Given the description of an element on the screen output the (x, y) to click on. 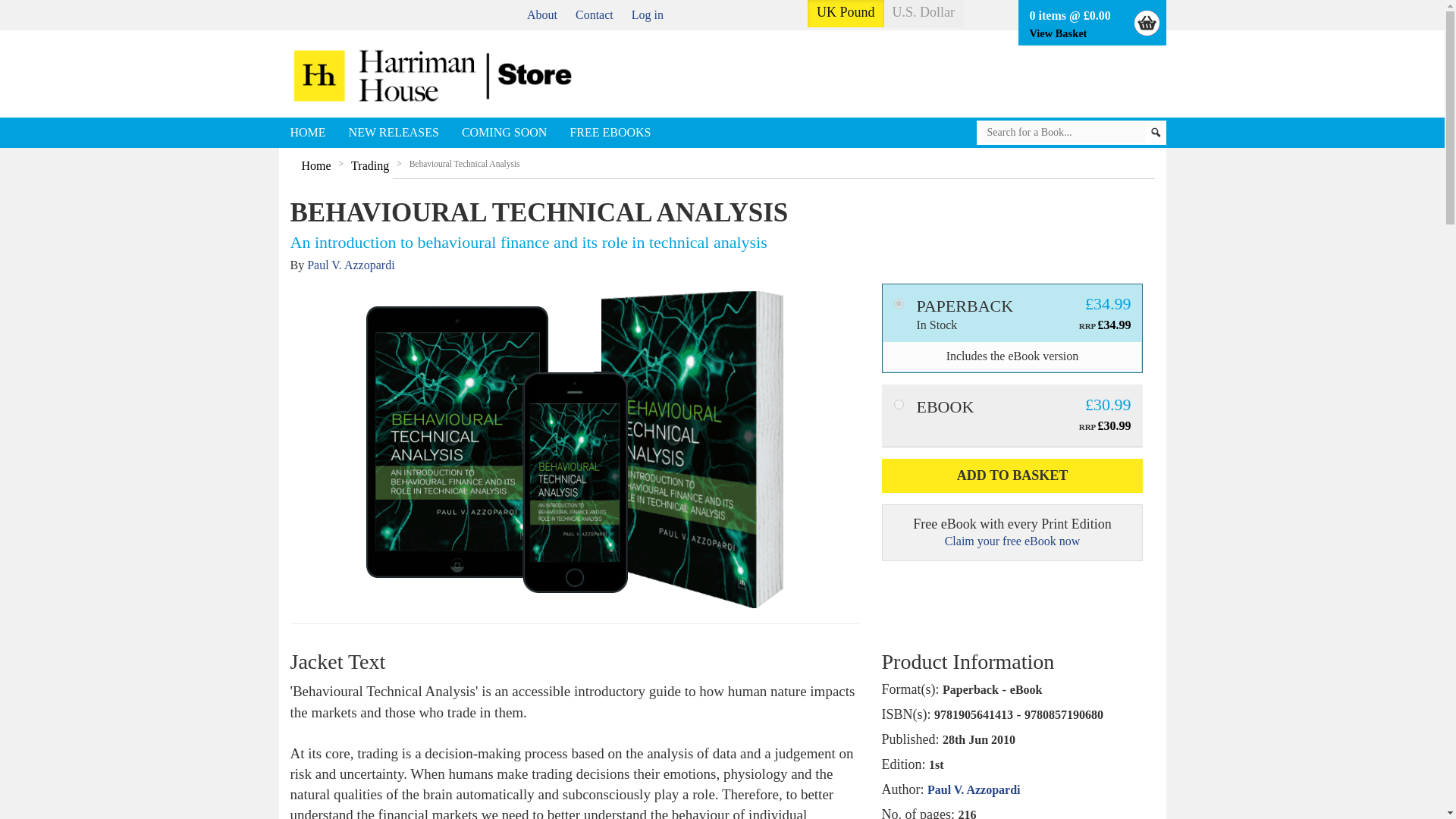
FREE EBOOKS (609, 132)
Contact (593, 14)
Trading (369, 164)
ADD TO BASKET (1011, 475)
COMING SOON (503, 132)
NEW RELEASES (393, 132)
e (897, 404)
p (897, 303)
HOME (308, 132)
View Basket (1058, 33)
Log in (647, 14)
About (542, 14)
Paul V. Azzopardi (350, 264)
Home (316, 164)
